Given the description of an element on the screen output the (x, y) to click on. 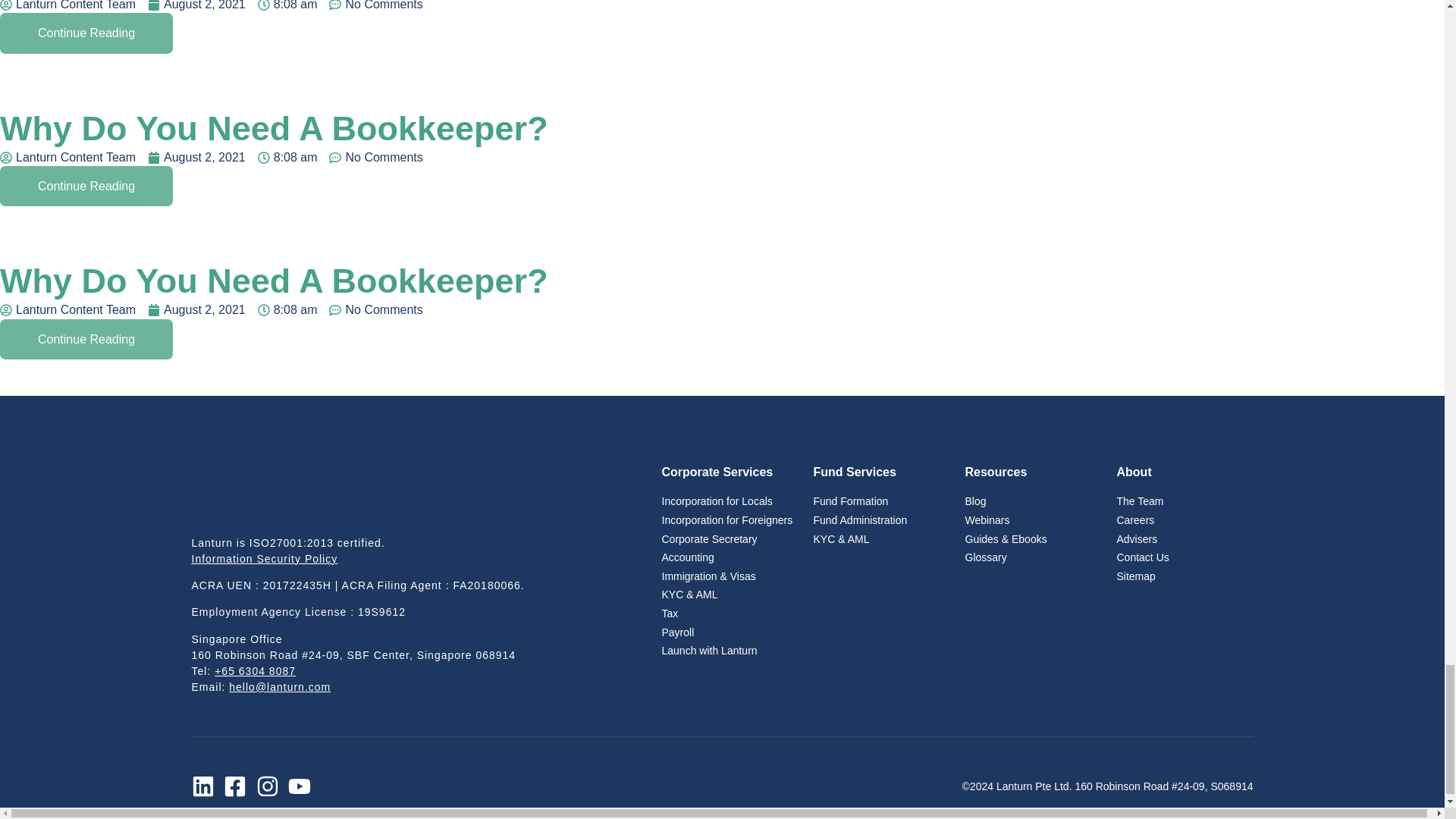
Instagram profile link (272, 785)
LlinkedIn Profile Link (207, 785)
Youtube channel link (304, 785)
Facebook profile link (240, 785)
